Given the description of an element on the screen output the (x, y) to click on. 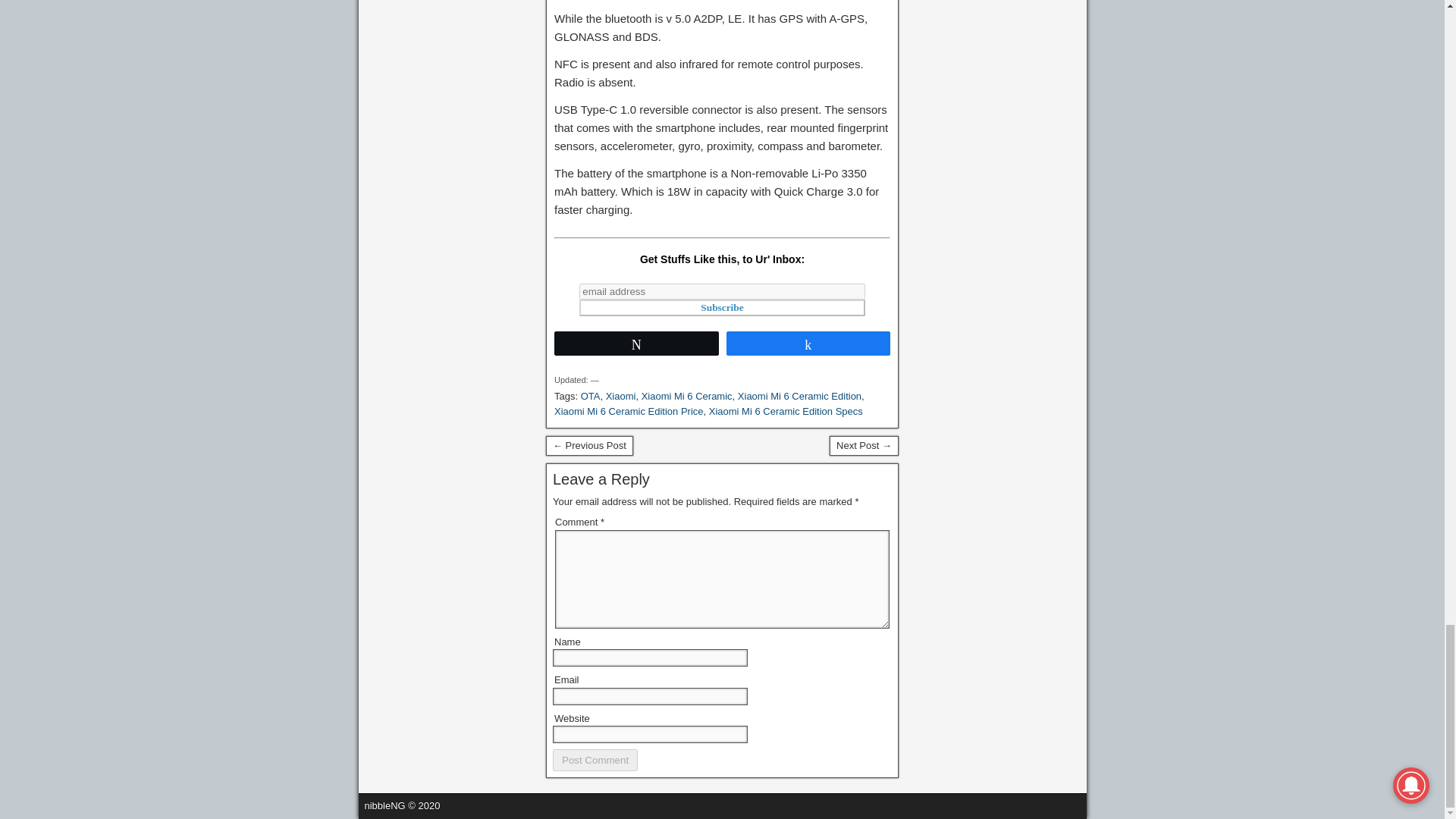
Xiaomi Mi 6 Ceramic Edition Specs (786, 410)
OTA (589, 396)
Subscribe (721, 307)
Post Comment (595, 760)
Subscribe (721, 307)
Post Comment (595, 760)
Xiaomi Mi 6 Ceramic Edition Price (628, 410)
Xiaomi Mi 6 Ceramic Edition (799, 396)
Xiaomi Mi 6 Ceramic (687, 396)
Xiaomi (620, 396)
